Given the description of an element on the screen output the (x, y) to click on. 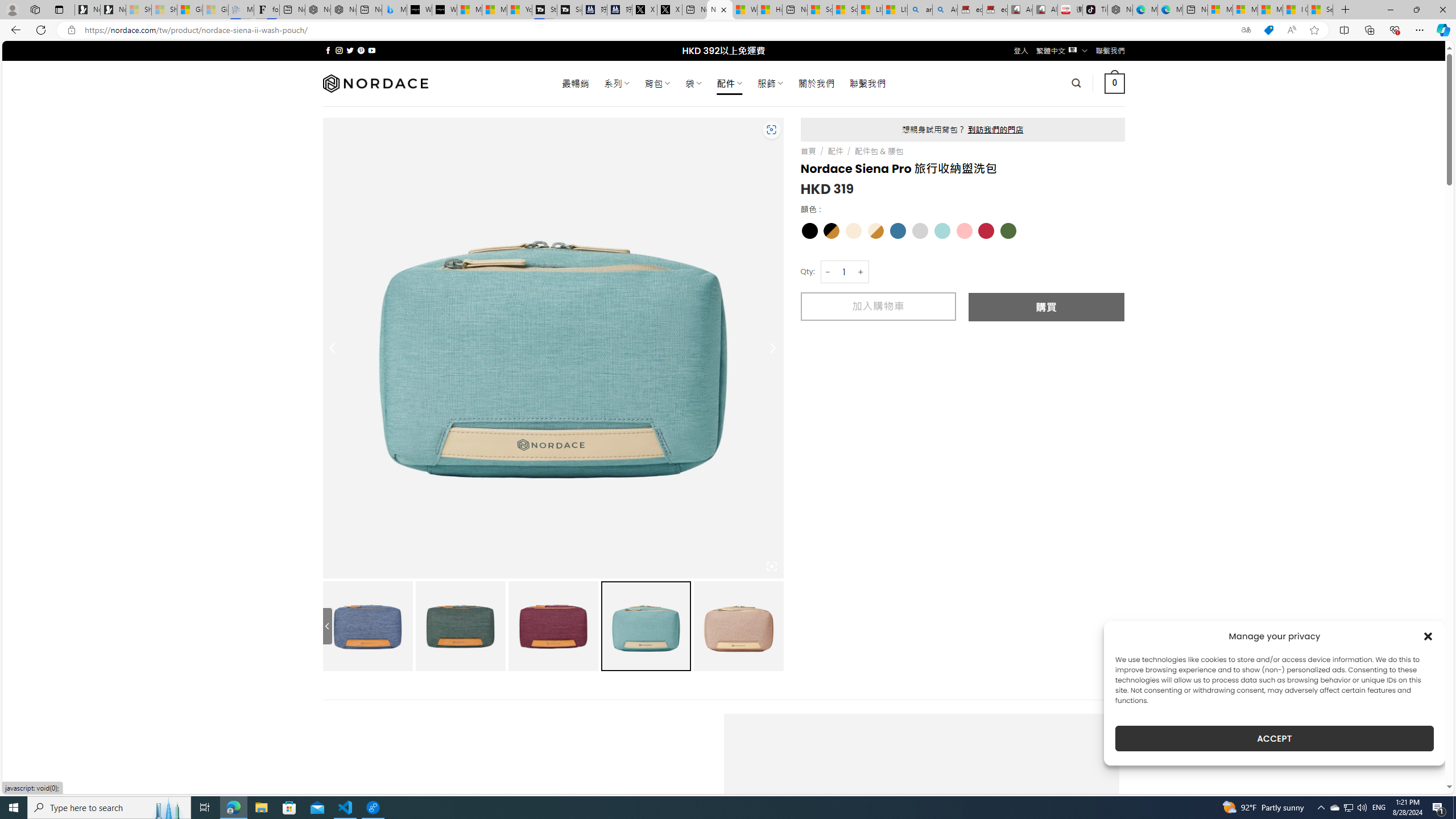
Settings and more (Alt+F) (1419, 29)
 0  (1115, 83)
Microsoft account | Privacy (1244, 9)
I Gained 20 Pounds of Muscle in 30 Days! | Watch (1295, 9)
+ (861, 272)
View site information (70, 29)
  0   (1115, 83)
This site has coupons! Shopping in Microsoft Edge (1268, 29)
Split screen (1344, 29)
